Given the description of an element on the screen output the (x, y) to click on. 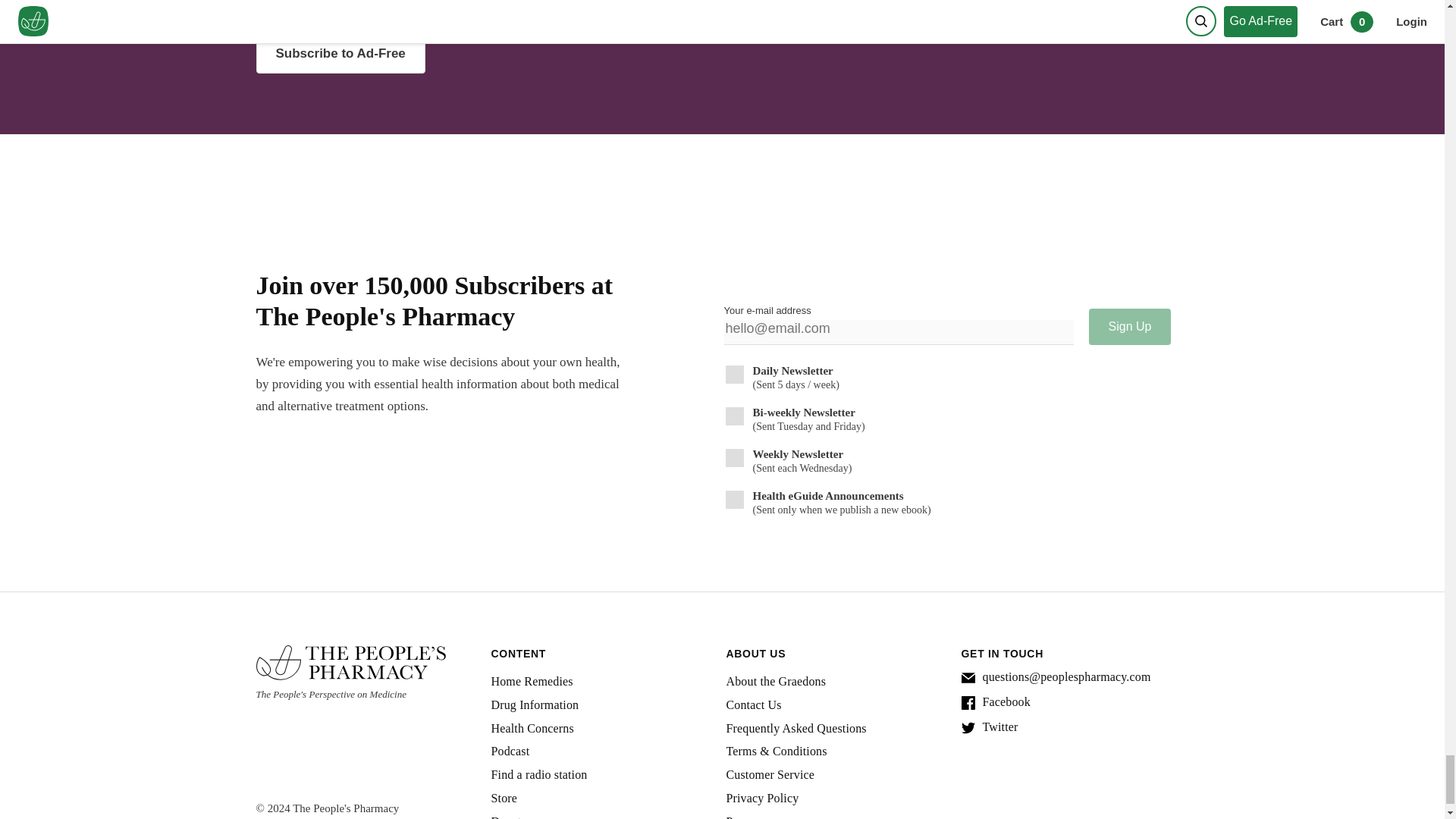
Subscribe to Ad-Free (340, 53)
Subscribe to Ad-Free (481, 53)
Sign Up (1130, 326)
